Given the description of an element on the screen output the (x, y) to click on. 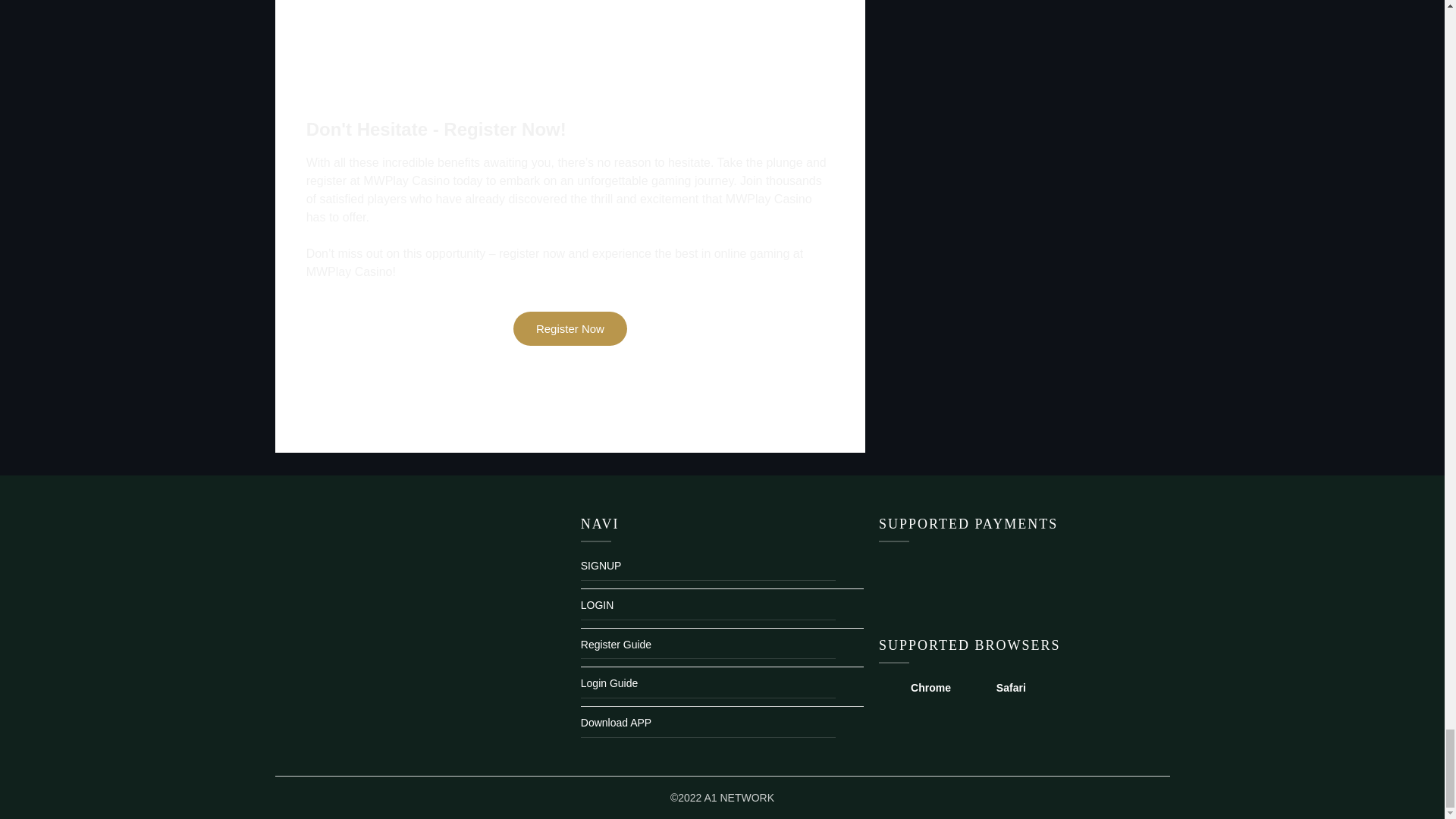
Login Guide (721, 687)
SIGNUP (721, 569)
Register Now (570, 328)
Download APP (721, 726)
LOGIN (721, 608)
Register Guide (721, 649)
